Given the description of an element on the screen output the (x, y) to click on. 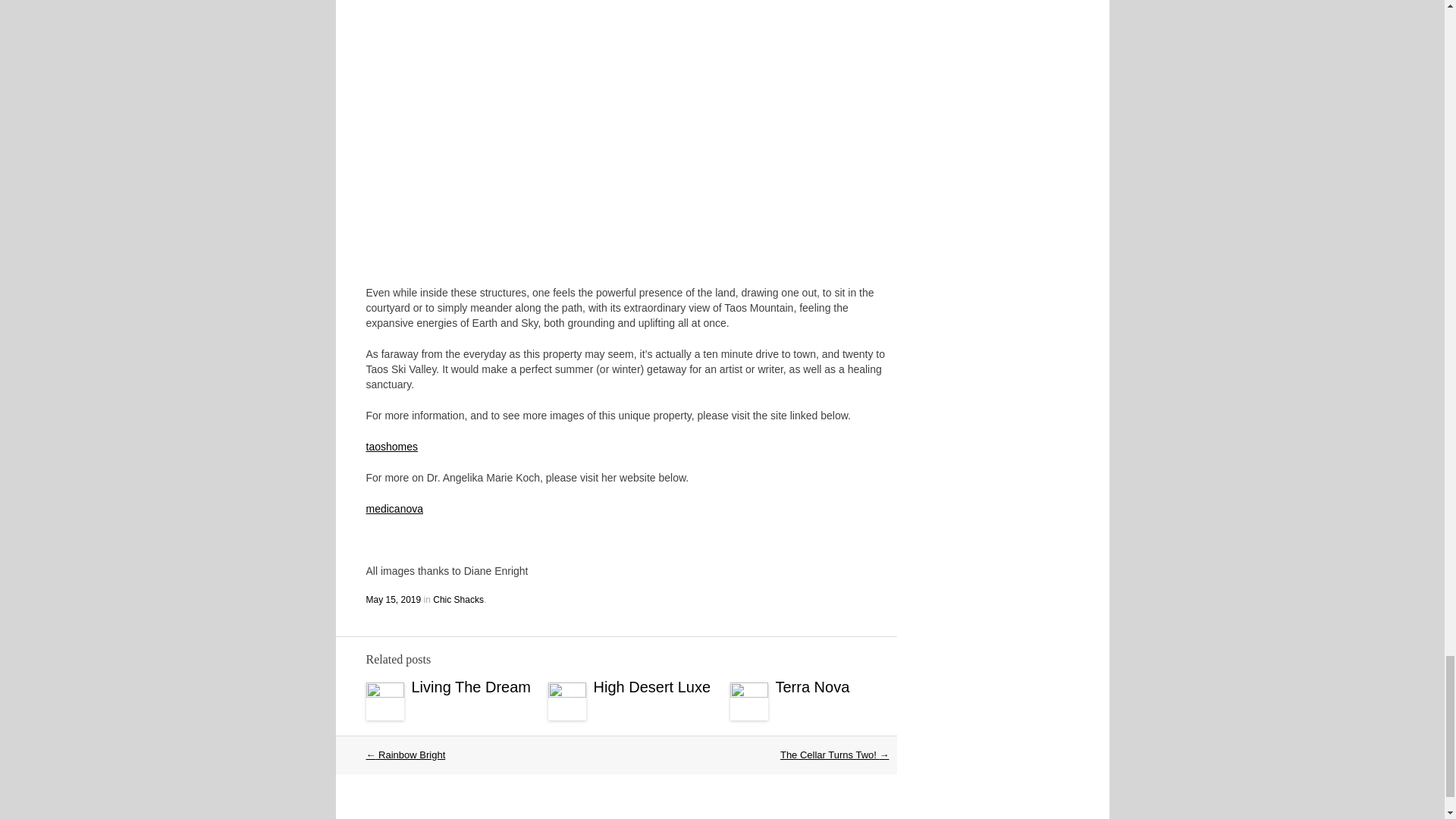
taoshomes (390, 445)
High Desert Luxe (651, 686)
Chic Shacks (457, 599)
May 15, 2019 (392, 599)
medicanova (394, 508)
Living The Dream (469, 686)
Permalink to Terra Nova (811, 686)
Permalink to High Desert Luxe (651, 686)
Terra Nova (811, 686)
Permalink to Living The Dream (469, 686)
